Given the description of an element on the screen output the (x, y) to click on. 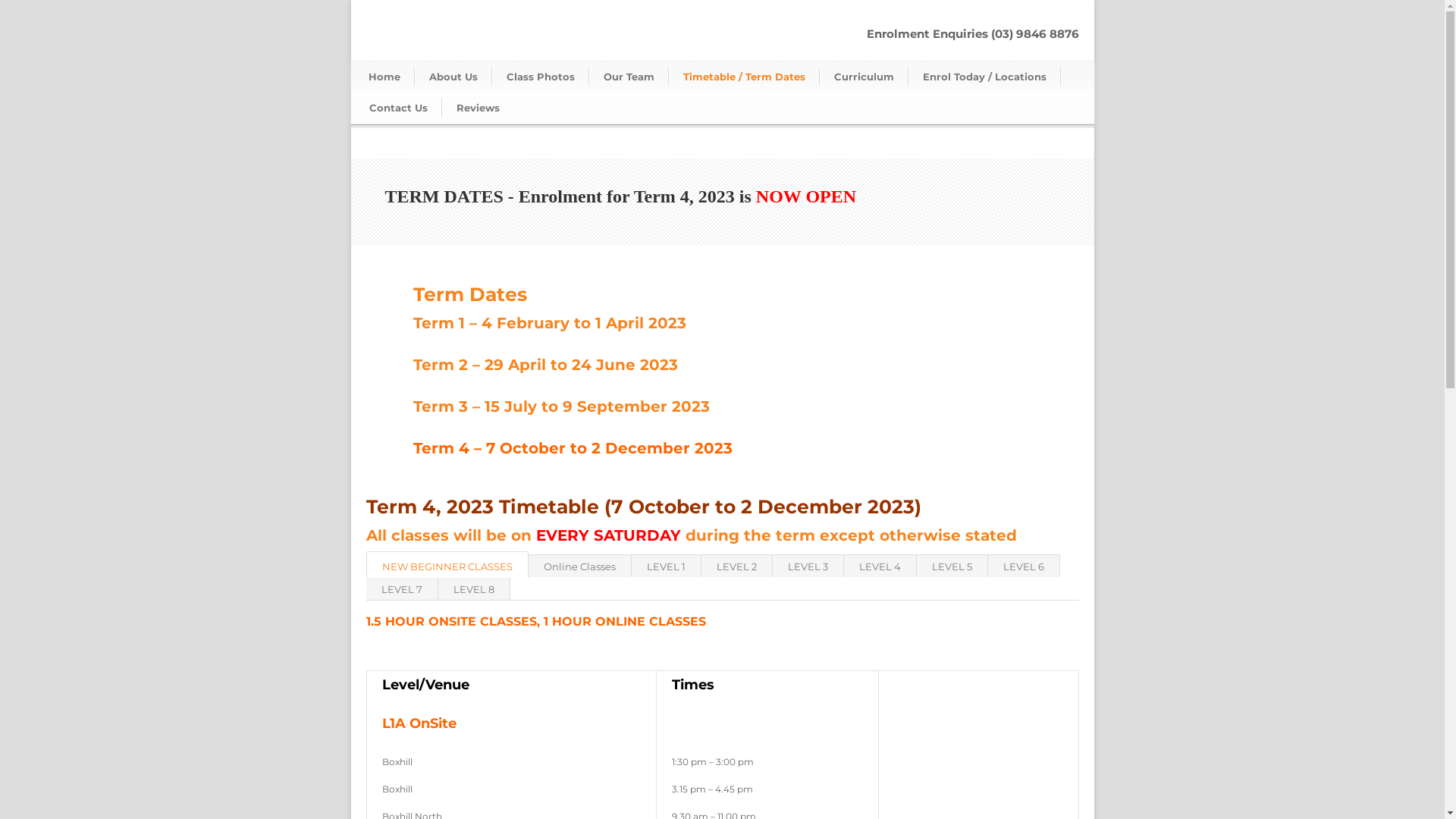
LEVEL 3 Element type: text (807, 565)
Timetable / Term Dates Element type: text (743, 76)
Online Classes Element type: text (578, 565)
LEVEL 5 Element type: text (951, 565)
LEVEL 8 Element type: text (474, 588)
NEW BEGINNER CLASSES Element type: text (446, 564)
Curriculum Element type: text (863, 76)
Our Team Element type: text (628, 76)
Contact Us Element type: text (398, 107)
Reviews Element type: text (476, 107)
Enrol Today / Locations Element type: text (984, 76)
Class Photos Element type: text (539, 76)
Home Element type: text (384, 76)
LEVEL 6 Element type: text (1023, 565)
LEVEL 2 Element type: text (735, 565)
About Us Element type: text (452, 76)
LEVEL 1 Element type: text (665, 565)
LEVEL 7 Element type: text (401, 588)
LEVEL 4 Element type: text (879, 565)
